Given the description of an element on the screen output the (x, y) to click on. 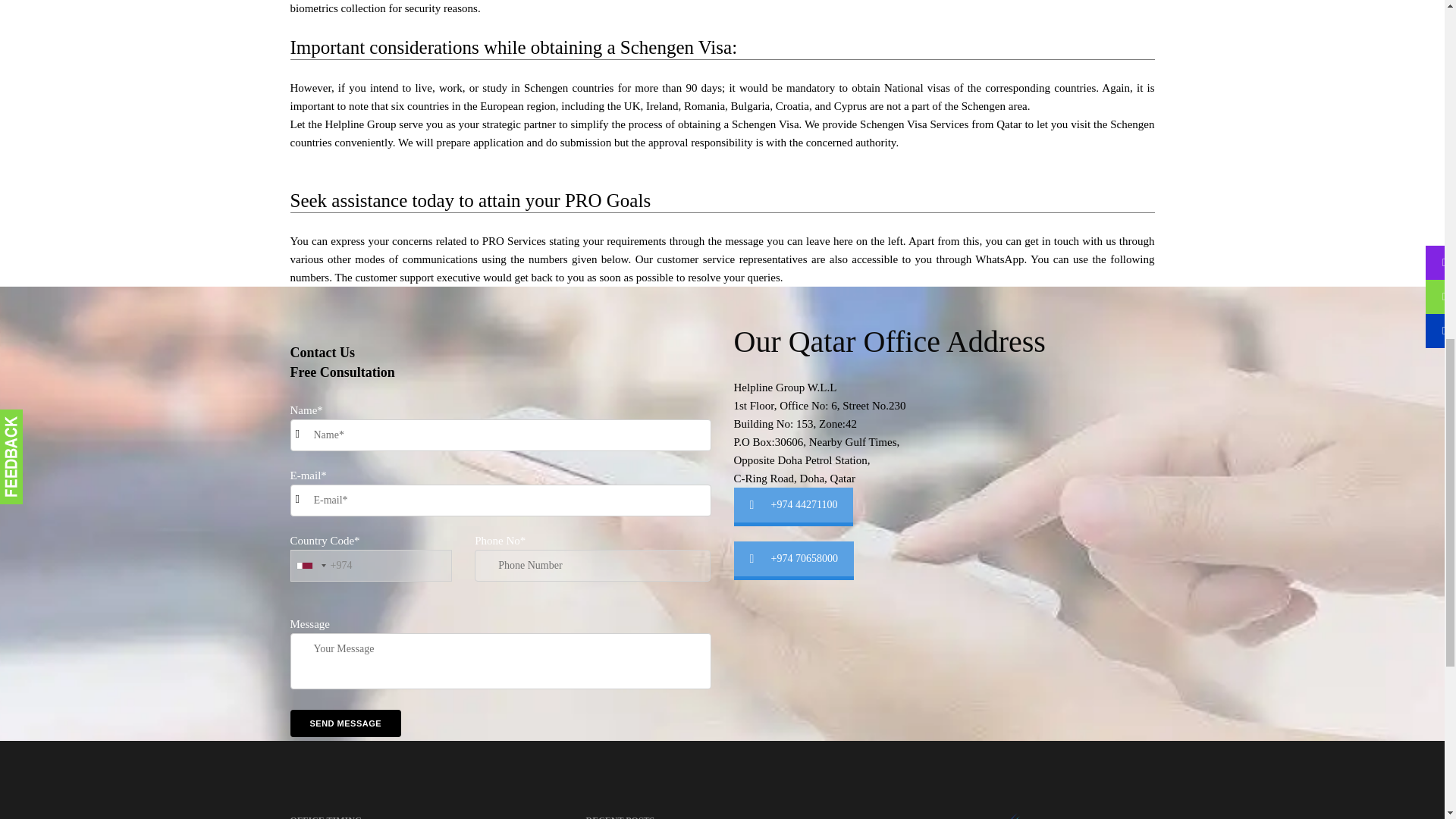
send message (345, 723)
